Given the description of an element on the screen output the (x, y) to click on. 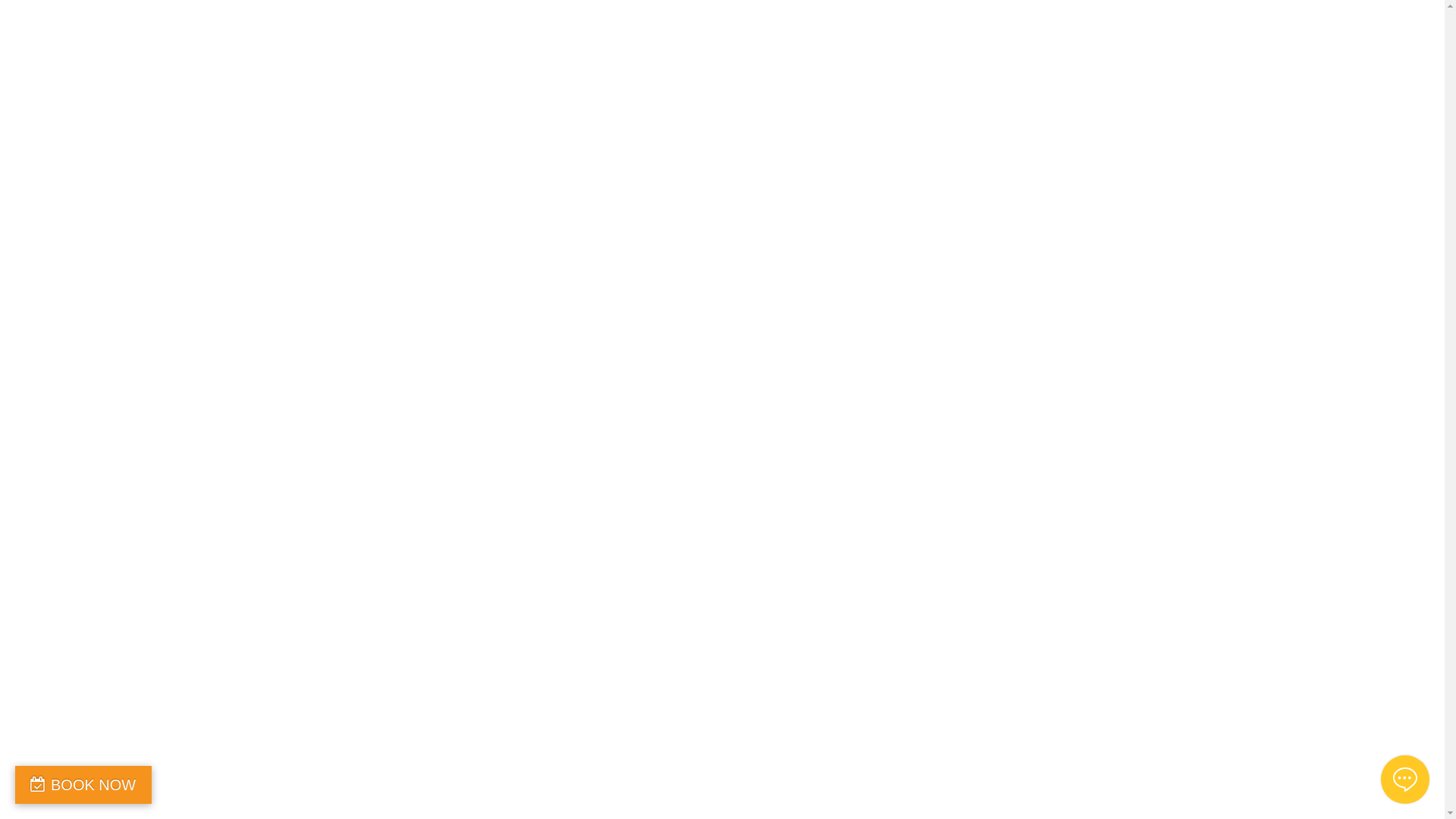
BOOK NOW Element type: text (83, 784)
